Given the description of an element on the screen output the (x, y) to click on. 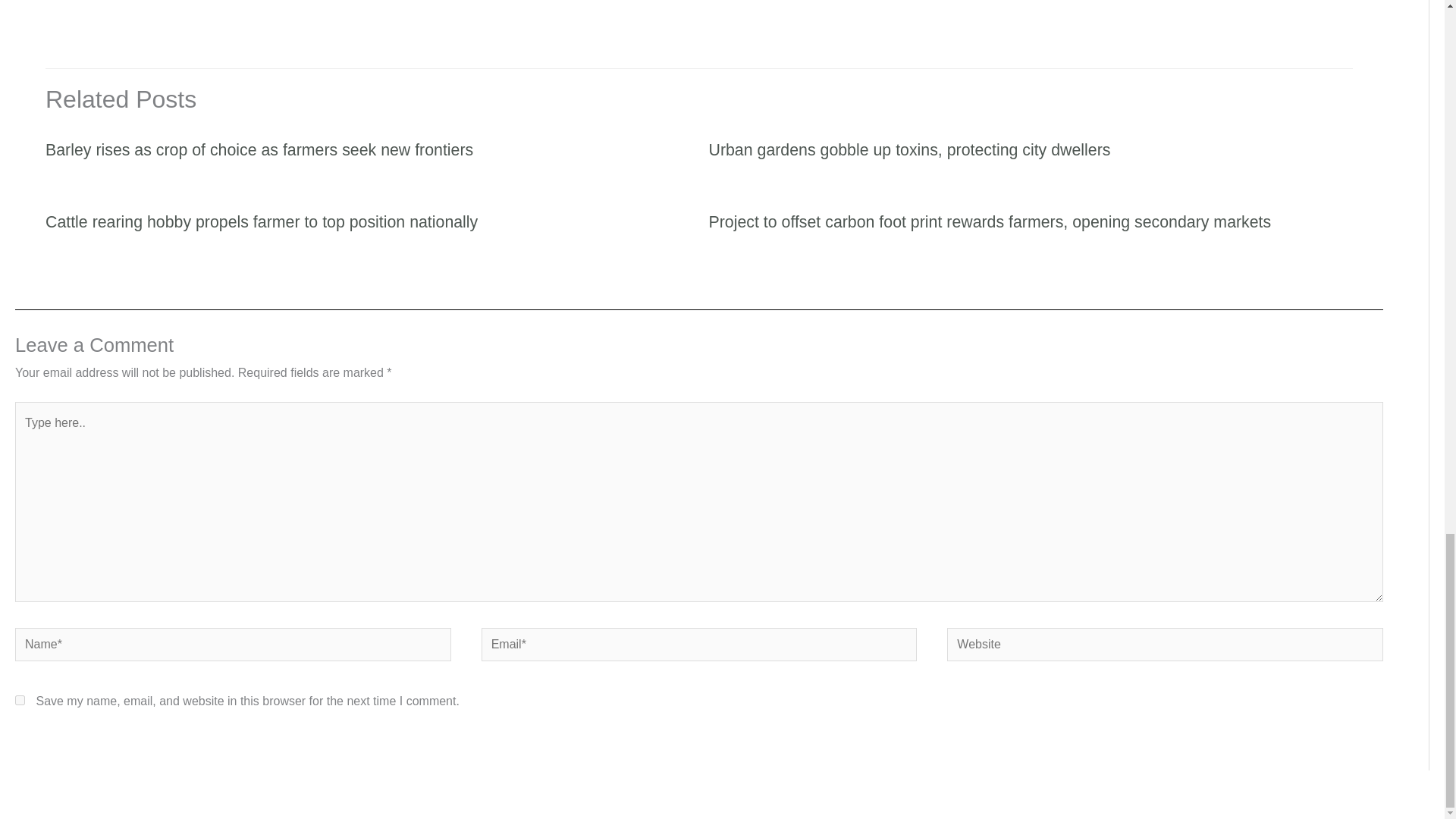
Barley rises as crop of choice as farmers seek new frontiers (259, 149)
yes (19, 700)
Urban gardens gobble up toxins, protecting city dwellers (908, 149)
